Given the description of an element on the screen output the (x, y) to click on. 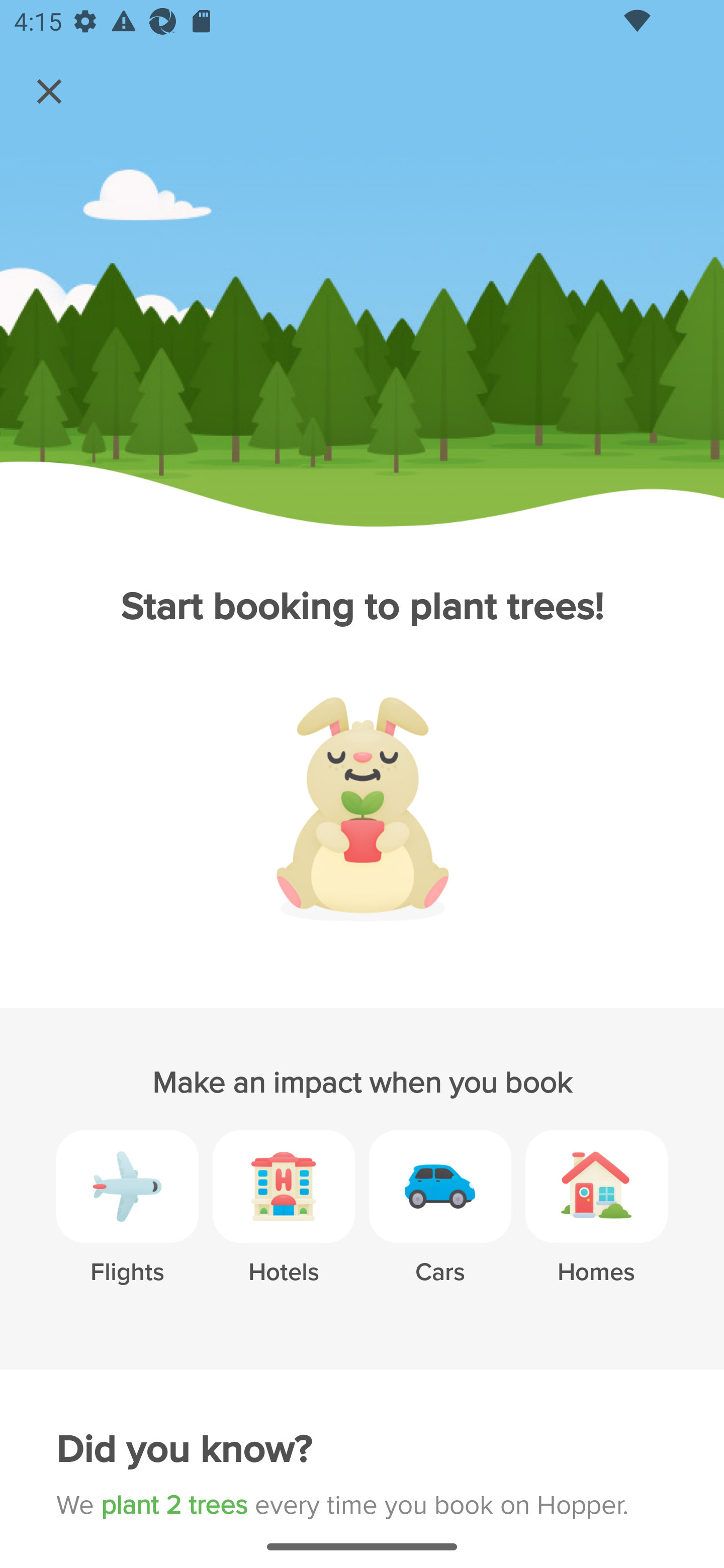
Navigate up (49, 91)
Flights (127, 1221)
Hotels (283, 1221)
Cars (440, 1221)
Homes (596, 1221)
